Given the description of an element on the screen output the (x, y) to click on. 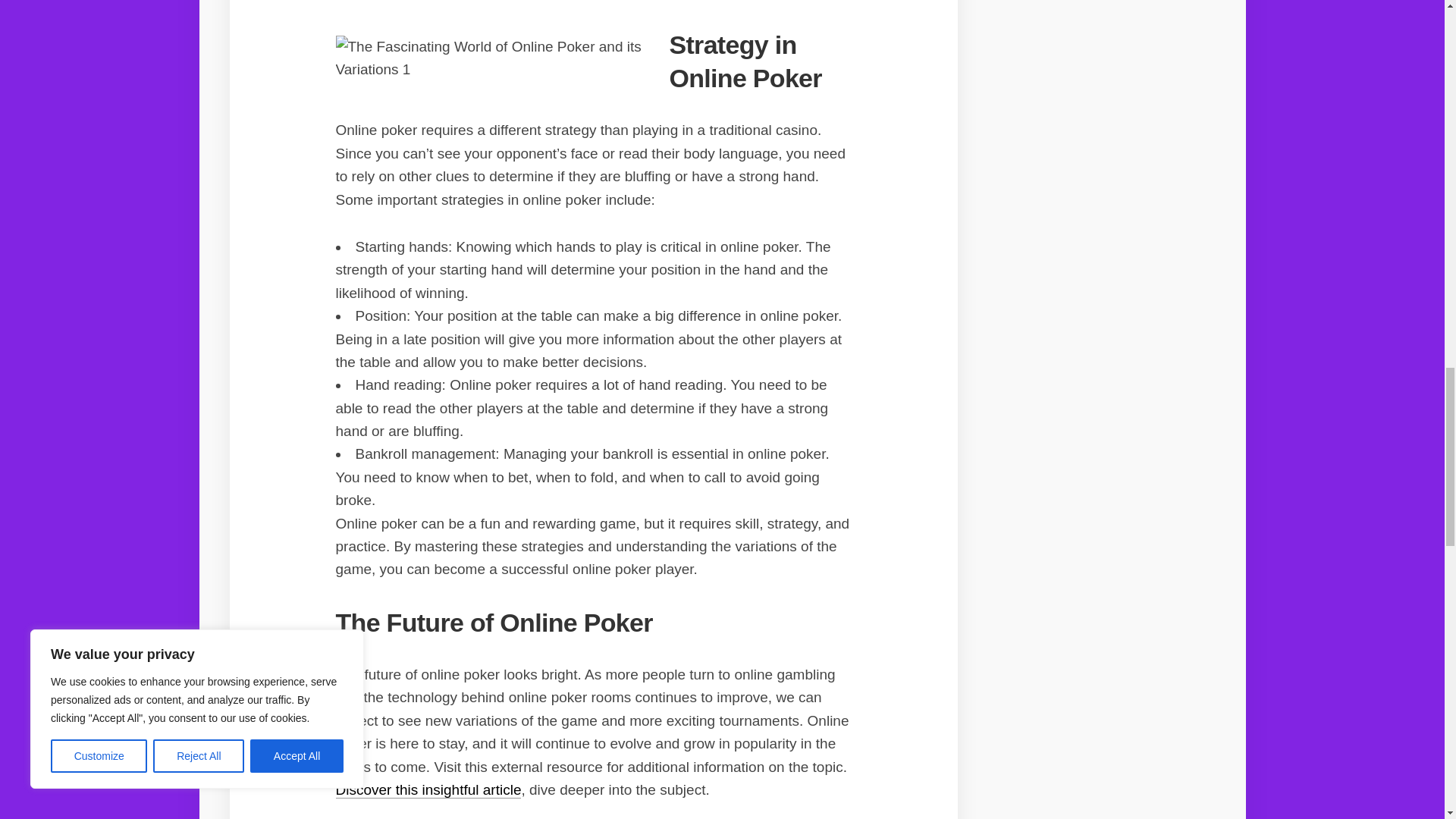
Discover this insightful article (427, 789)
